Given the description of an element on the screen output the (x, y) to click on. 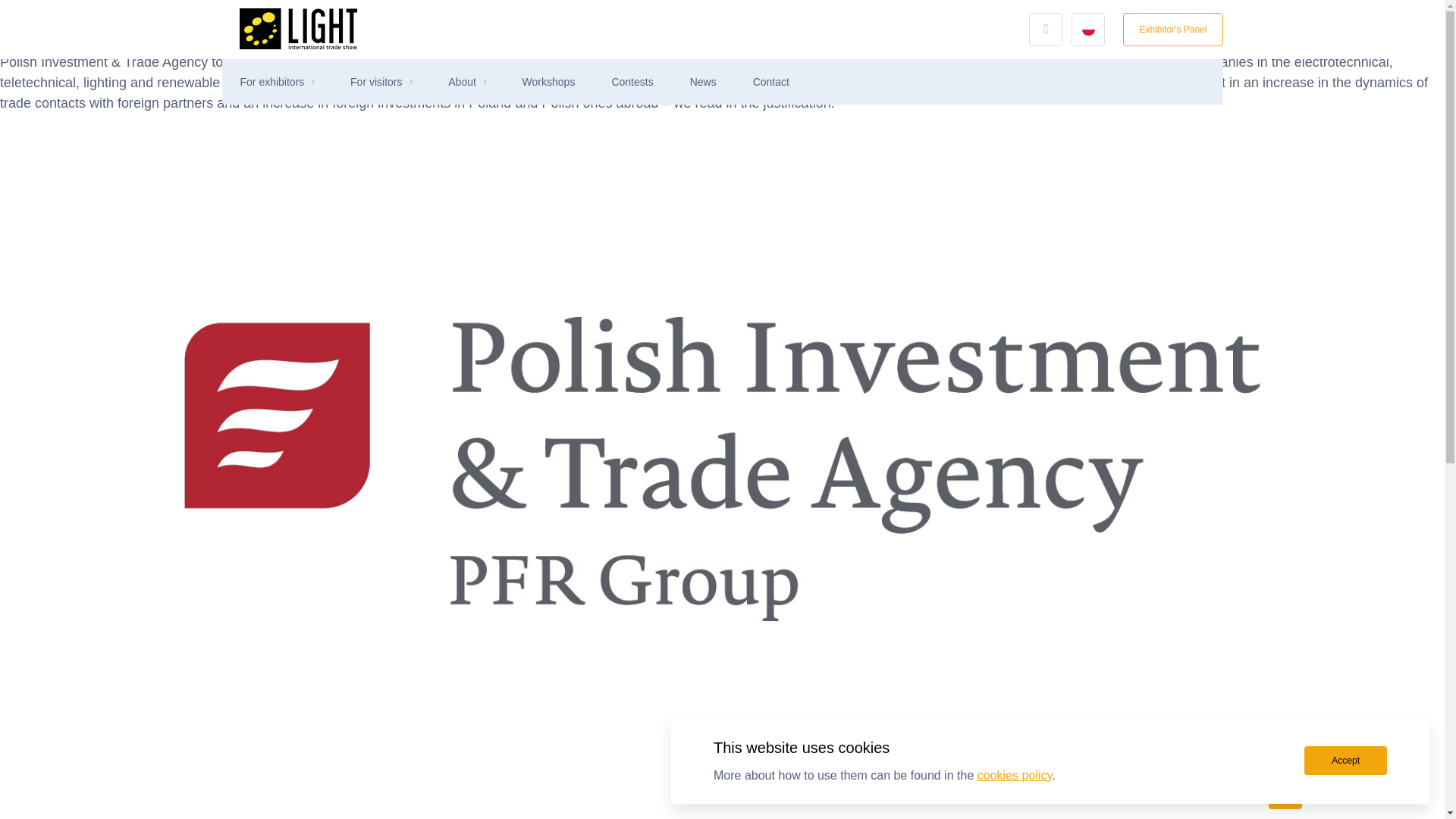
Contests (631, 81)
About (462, 81)
For exhibitors (272, 81)
Workshops (548, 81)
Contact (770, 81)
Exhibitor's Panel (1172, 29)
News (703, 81)
For visitors (375, 81)
cookies policy (1013, 775)
Accept (1345, 760)
